Given the description of an element on the screen output the (x, y) to click on. 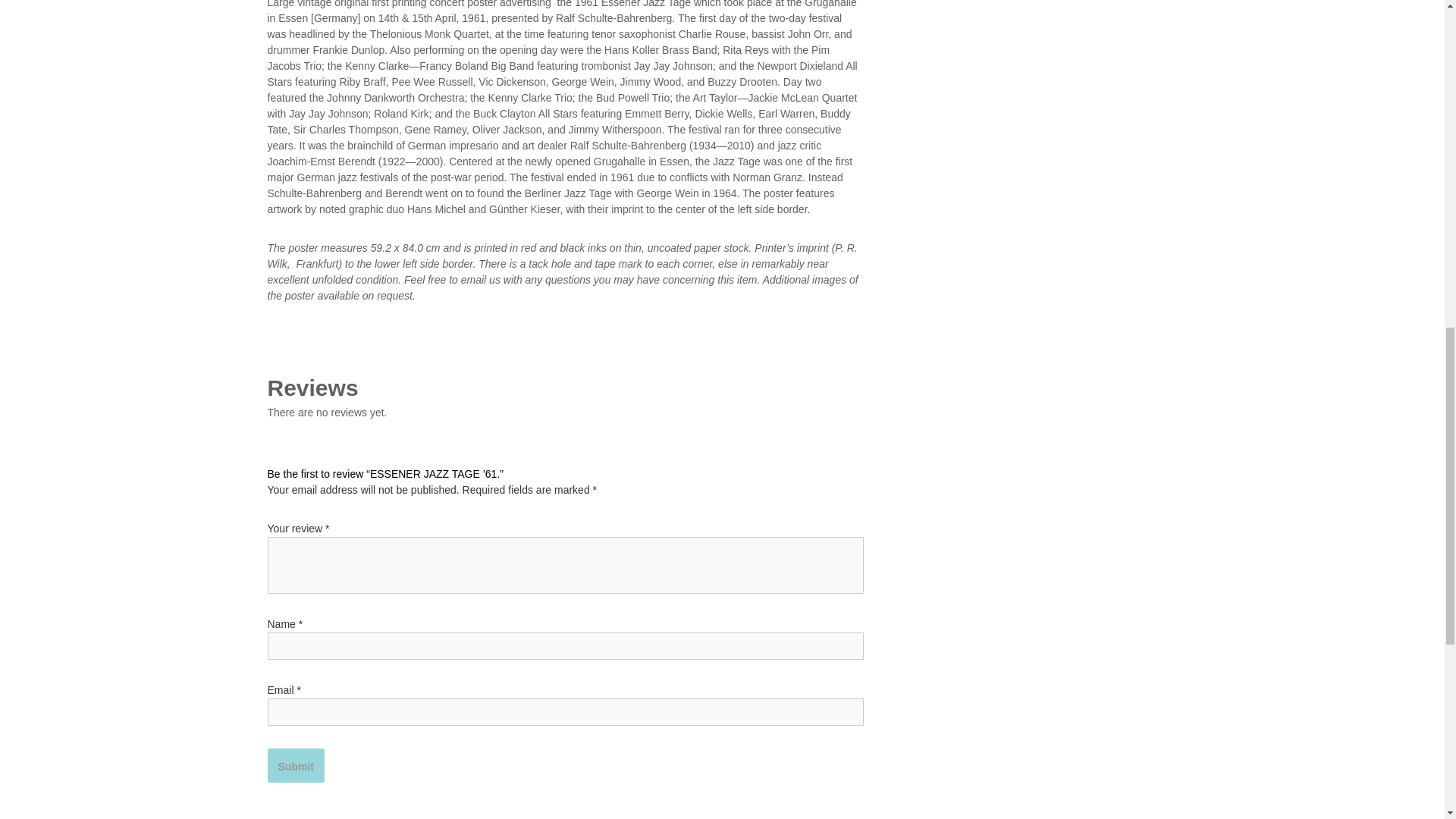
Submit (294, 765)
